Given the description of an element on the screen output the (x, y) to click on. 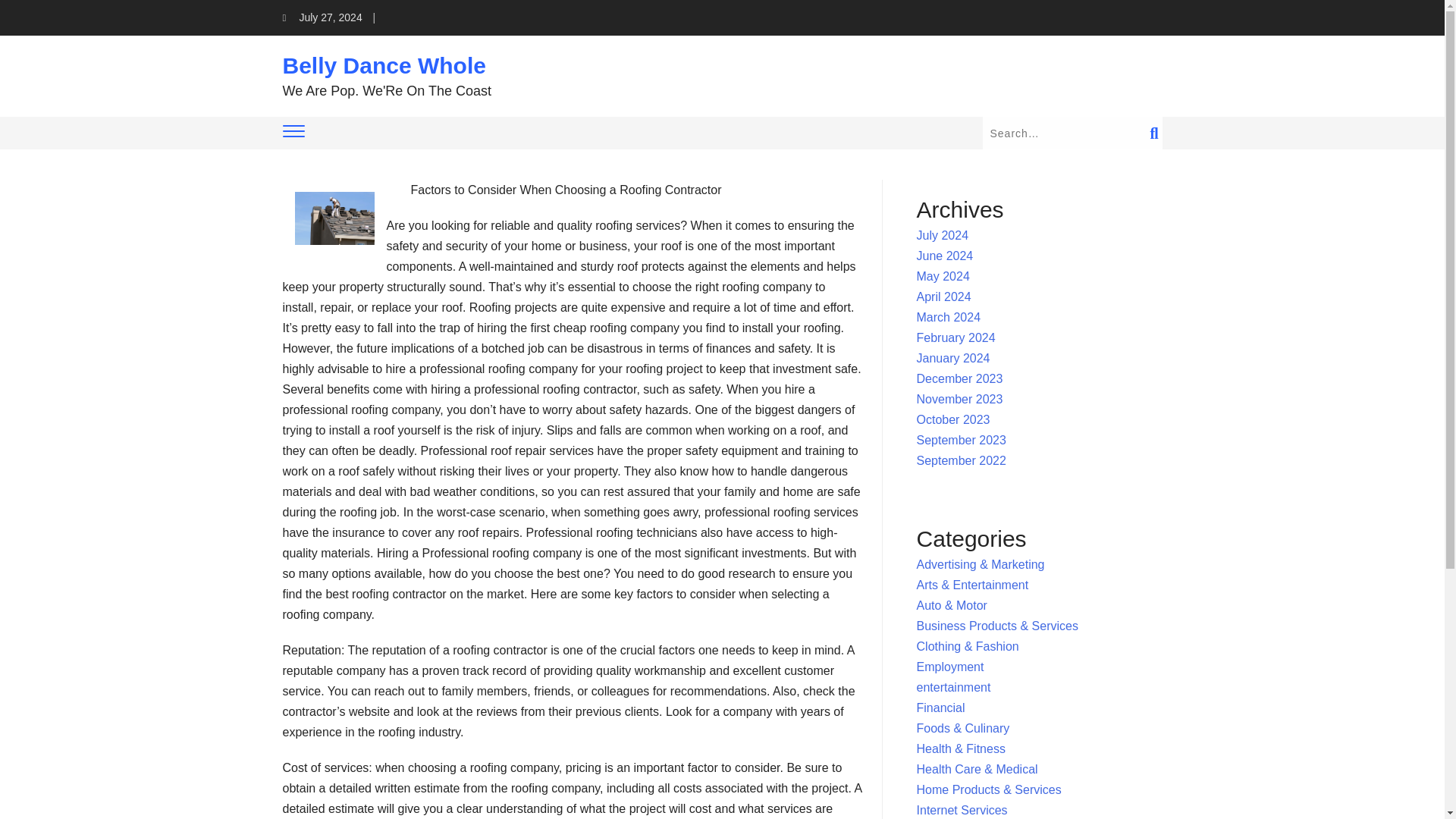
entertainment (954, 686)
October 2023 (953, 419)
September 2023 (961, 440)
Employment (950, 666)
May 2024 (943, 276)
Belly Dance Whole (383, 65)
September 2022 (961, 460)
February 2024 (956, 337)
June 2024 (945, 255)
Financial (941, 707)
January 2024 (953, 358)
November 2023 (960, 399)
March 2024 (949, 317)
December 2023 (960, 378)
April 2024 (944, 296)
